Given the description of an element on the screen output the (x, y) to click on. 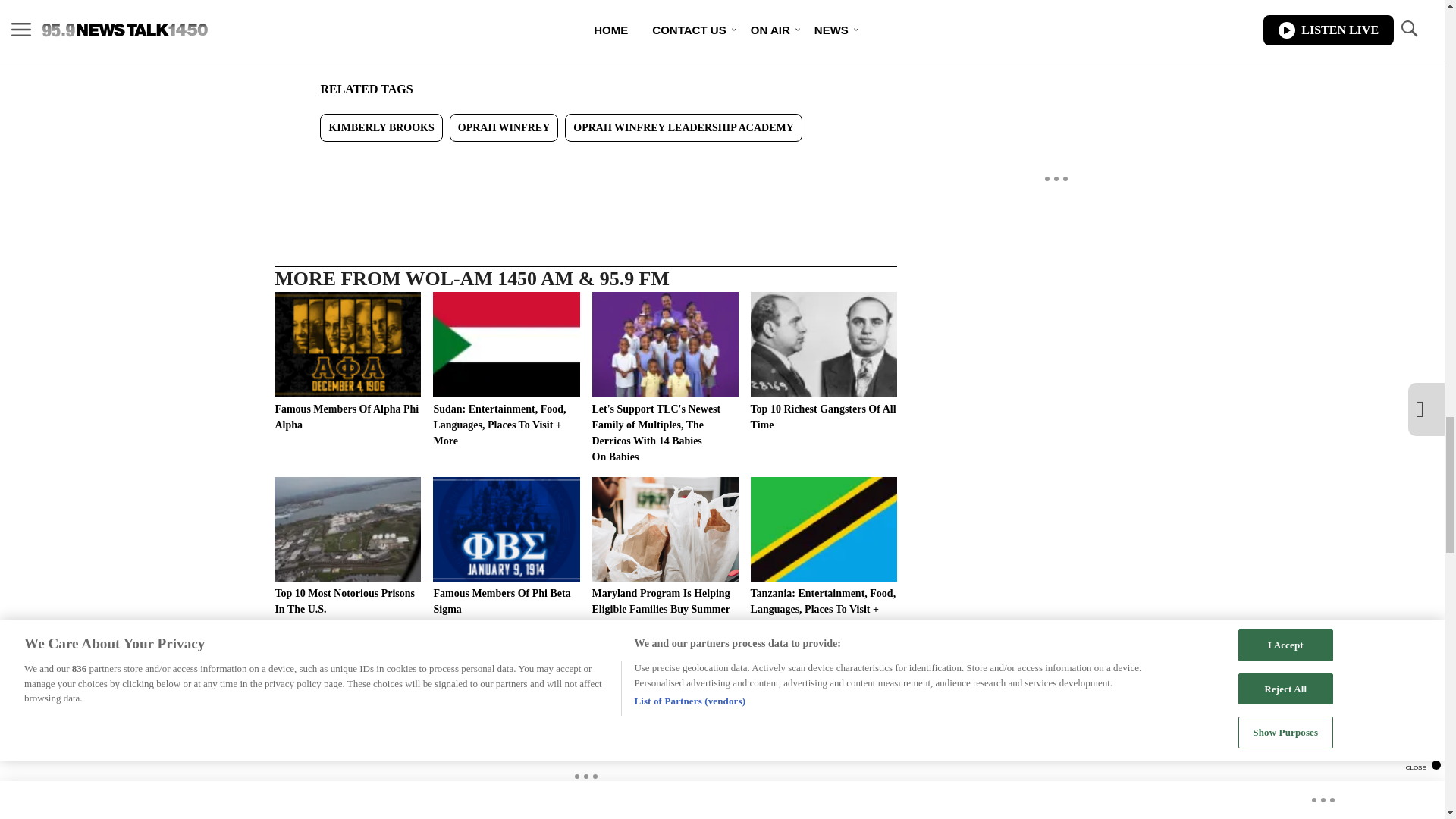
hellobeautiful.com (369, 51)
OPRAH WINFREY (503, 127)
Famous Members Of Alpha Phi Alpha (347, 361)
OPRAH WINFREY LEADERSHIP ACADEMY (683, 127)
KIMBERLY BROOKS (381, 127)
Vuukle Sharebar Widget (585, 166)
